Given the description of an element on the screen output the (x, y) to click on. 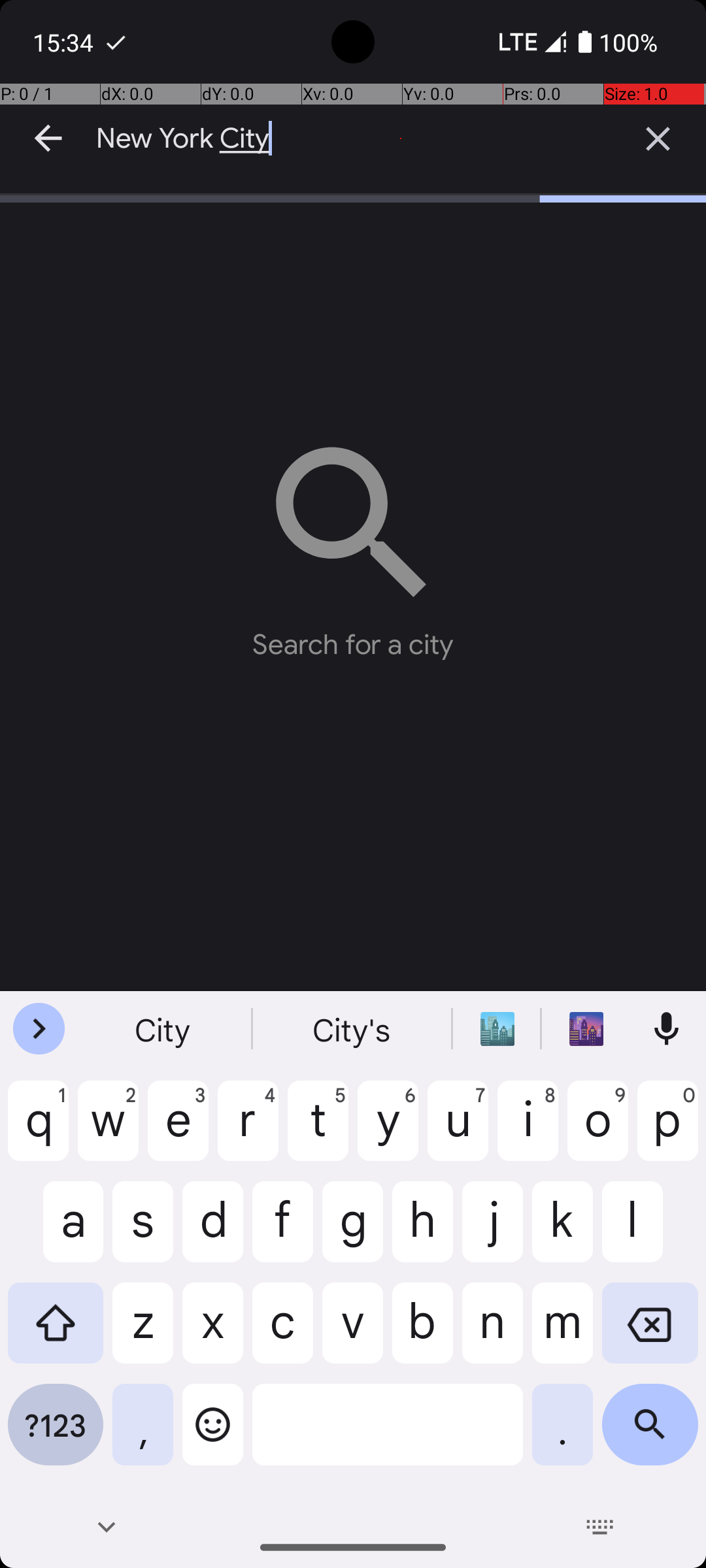
New York City Element type: android.widget.EditText (352, 138)
Clear text Element type: android.widget.ImageButton (657, 138)
Search for a city Element type: android.widget.TextView (353, 541)
City Element type: android.widget.FrameLayout (163, 1028)
City's Element type: android.widget.FrameLayout (352, 1028)
emoji 🏙️ Element type: android.widget.FrameLayout (497, 1028)
emoji 🌆 Element type: android.widget.FrameLayout (585, 1028)
